Given the description of an element on the screen output the (x, y) to click on. 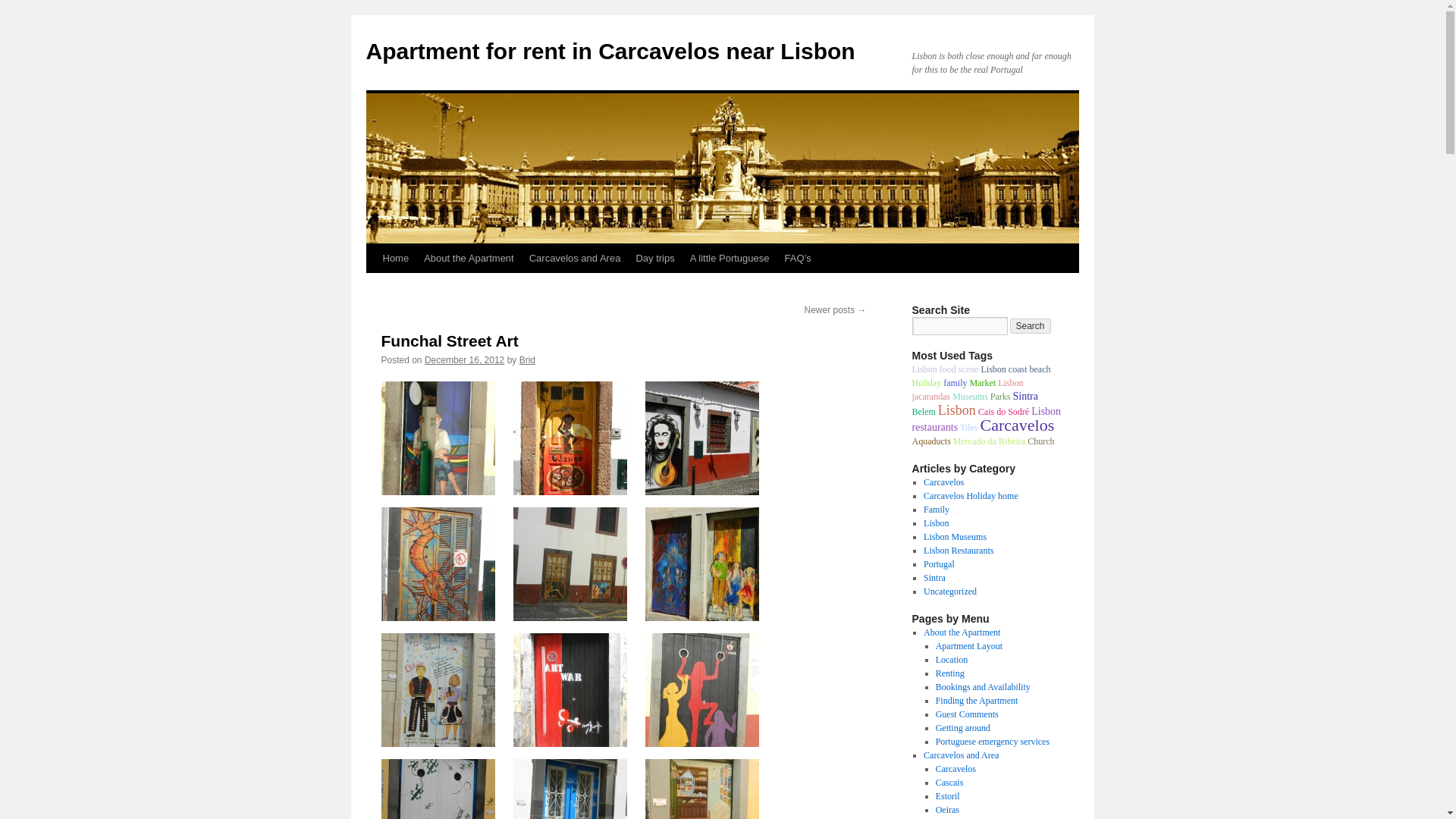
Carcavelos and Area (574, 258)
Day trips (654, 258)
Search (1030, 325)
Brid (527, 359)
Apartment for rent in Carcavelos near Lisbon (609, 50)
View all posts by Brid (527, 359)
Funchal Street Art (449, 340)
Home (395, 258)
17:59 (464, 359)
December 16, 2012 (464, 359)
A little Portuguese (729, 258)
About the Apartment (468, 258)
